Given the description of an element on the screen output the (x, y) to click on. 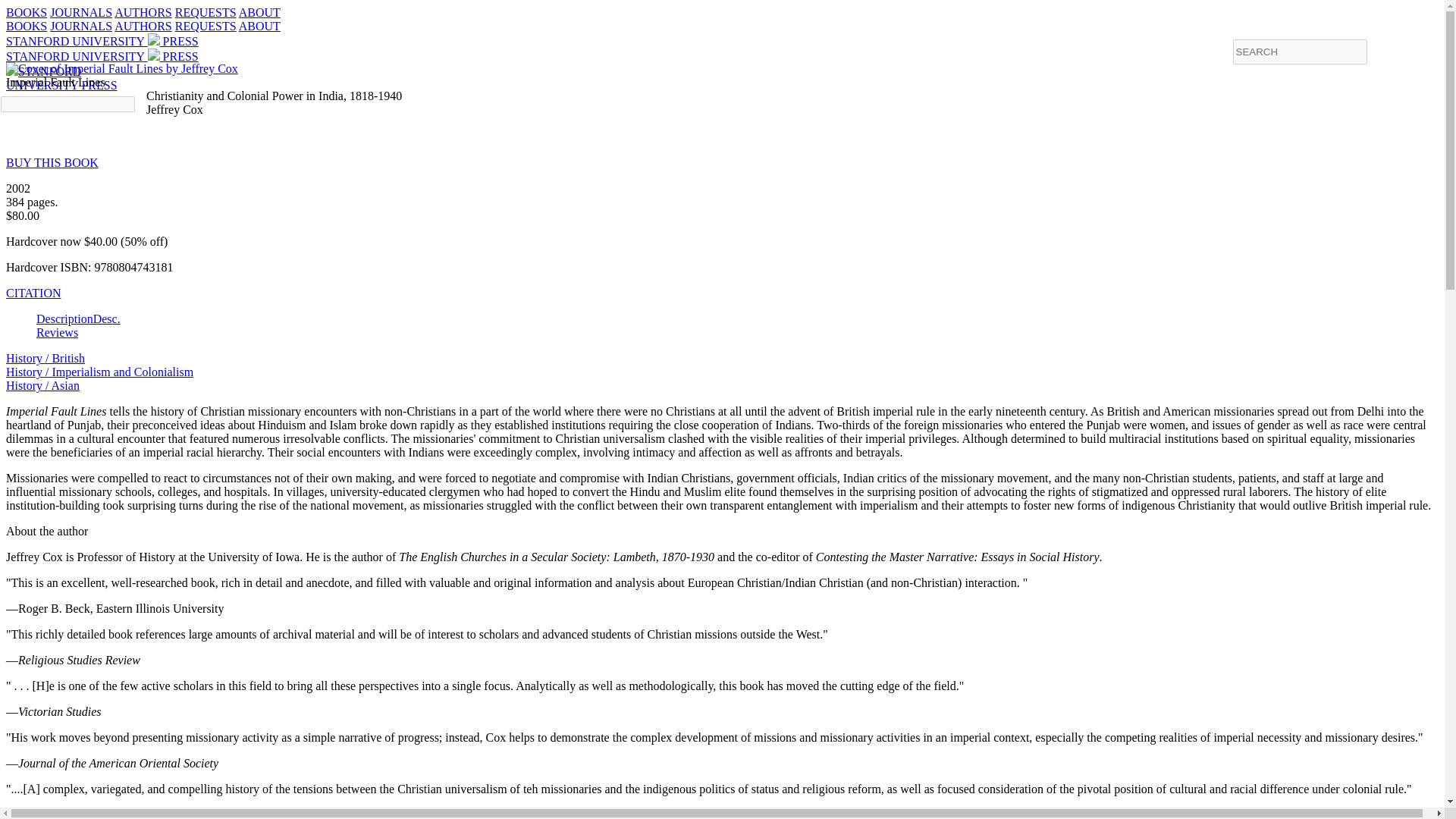
JOURNALS (80, 11)
STANFORD UNIVERSITY PRESS (101, 56)
AUTHORS (143, 25)
BOOKS (25, 25)
CITATION (33, 292)
Reviews (57, 332)
REQUESTS (204, 11)
ABOUT (259, 25)
JOURNALS (80, 25)
BUY THIS BOOK (61, 78)
AUTHORS (52, 162)
REQUESTS (143, 11)
ABOUT (204, 25)
DescriptionDesc. (259, 11)
